Given the description of an element on the screen output the (x, y) to click on. 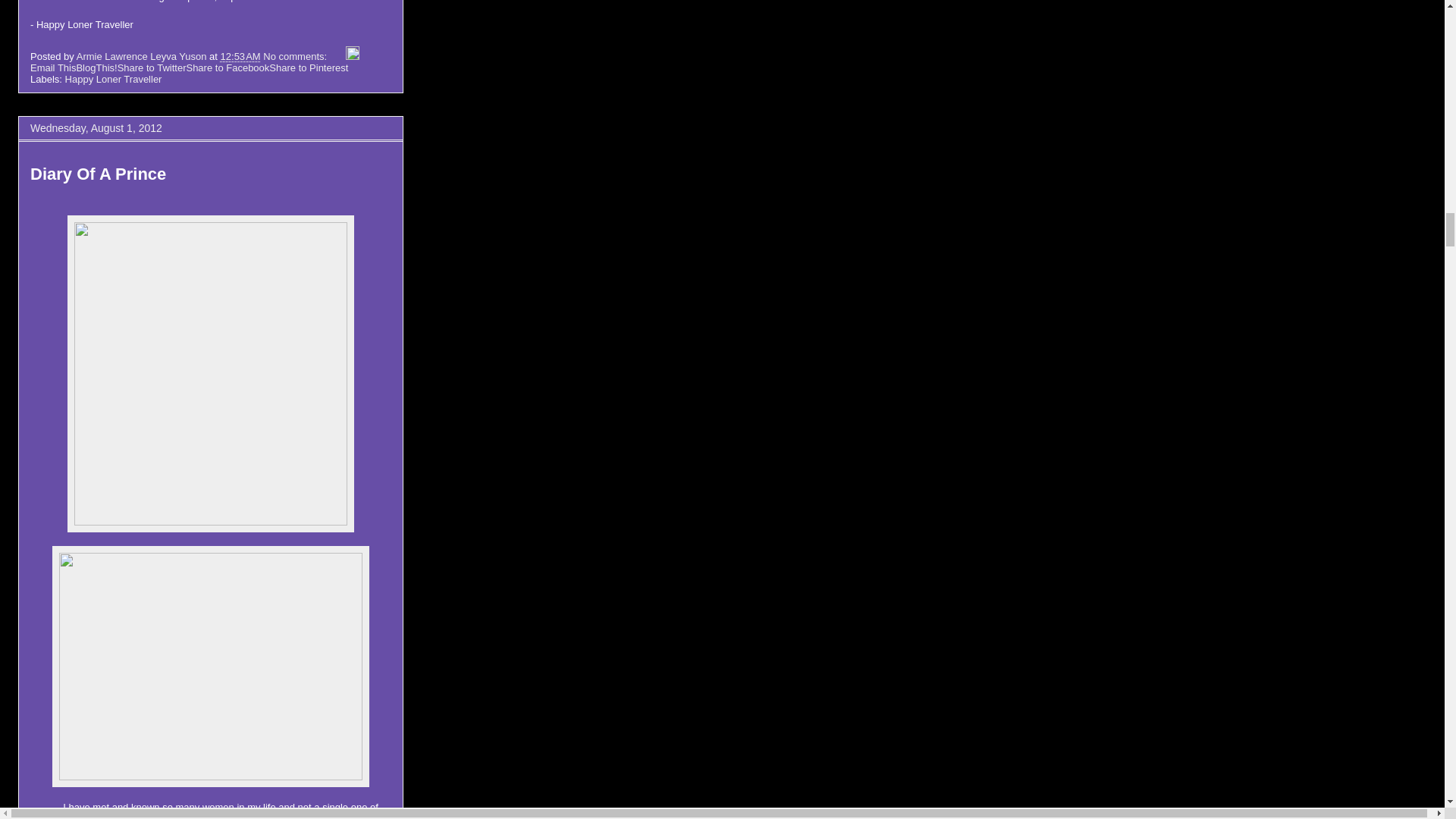
author profile (143, 56)
permanent link (240, 56)
Email Post (338, 56)
Email This (52, 67)
Edit Post (352, 56)
BlogThis! (95, 67)
